Given the description of an element on the screen output the (x, y) to click on. 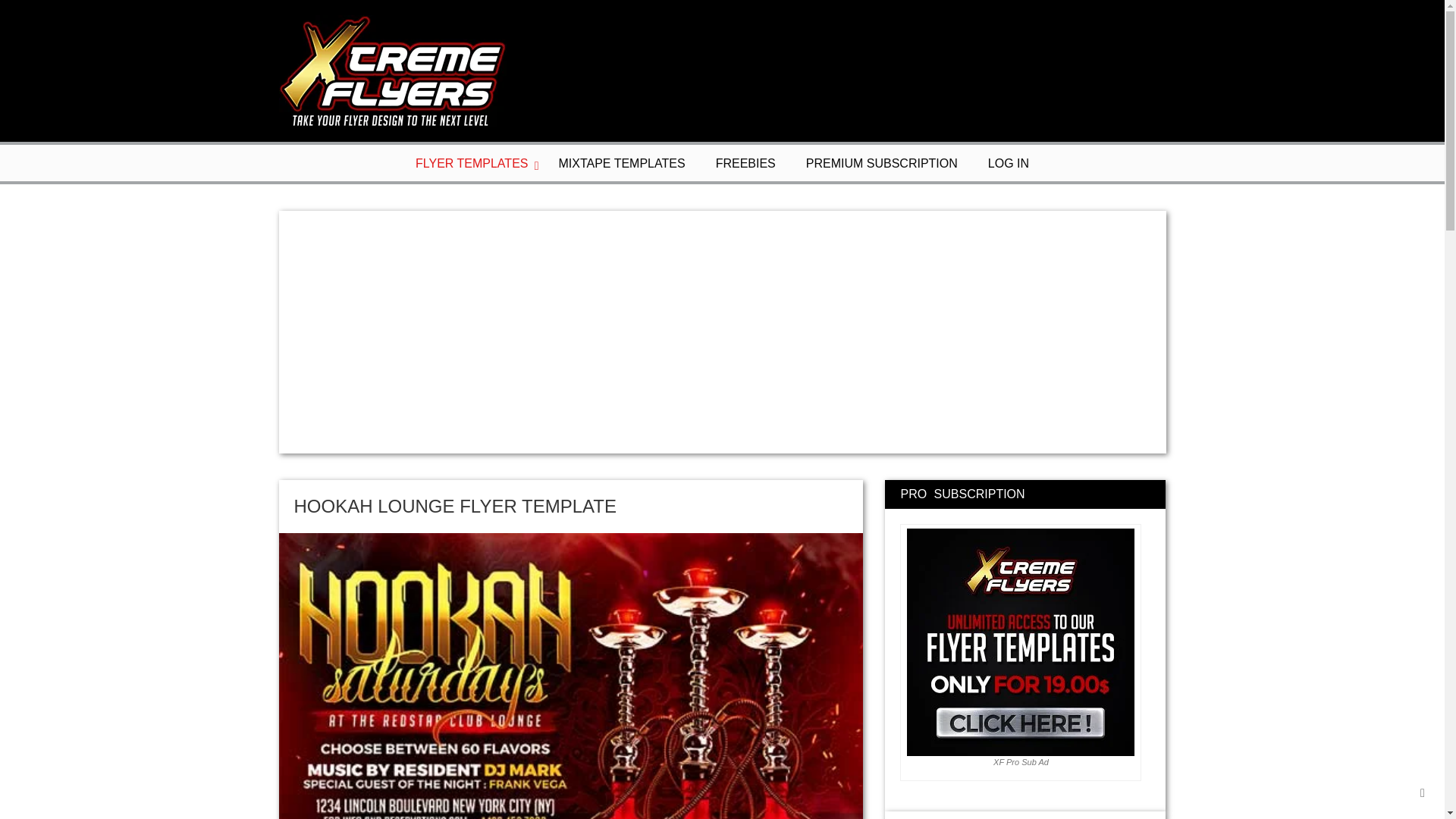
To Top (1423, 792)
MIXTAPE TEMPLATES (620, 163)
FLYER TEMPLATES (470, 163)
LOG IN (1008, 163)
PREMIUM SUBSCRIPTION (882, 163)
FREEBIES (746, 163)
